Given the description of an element on the screen output the (x, y) to click on. 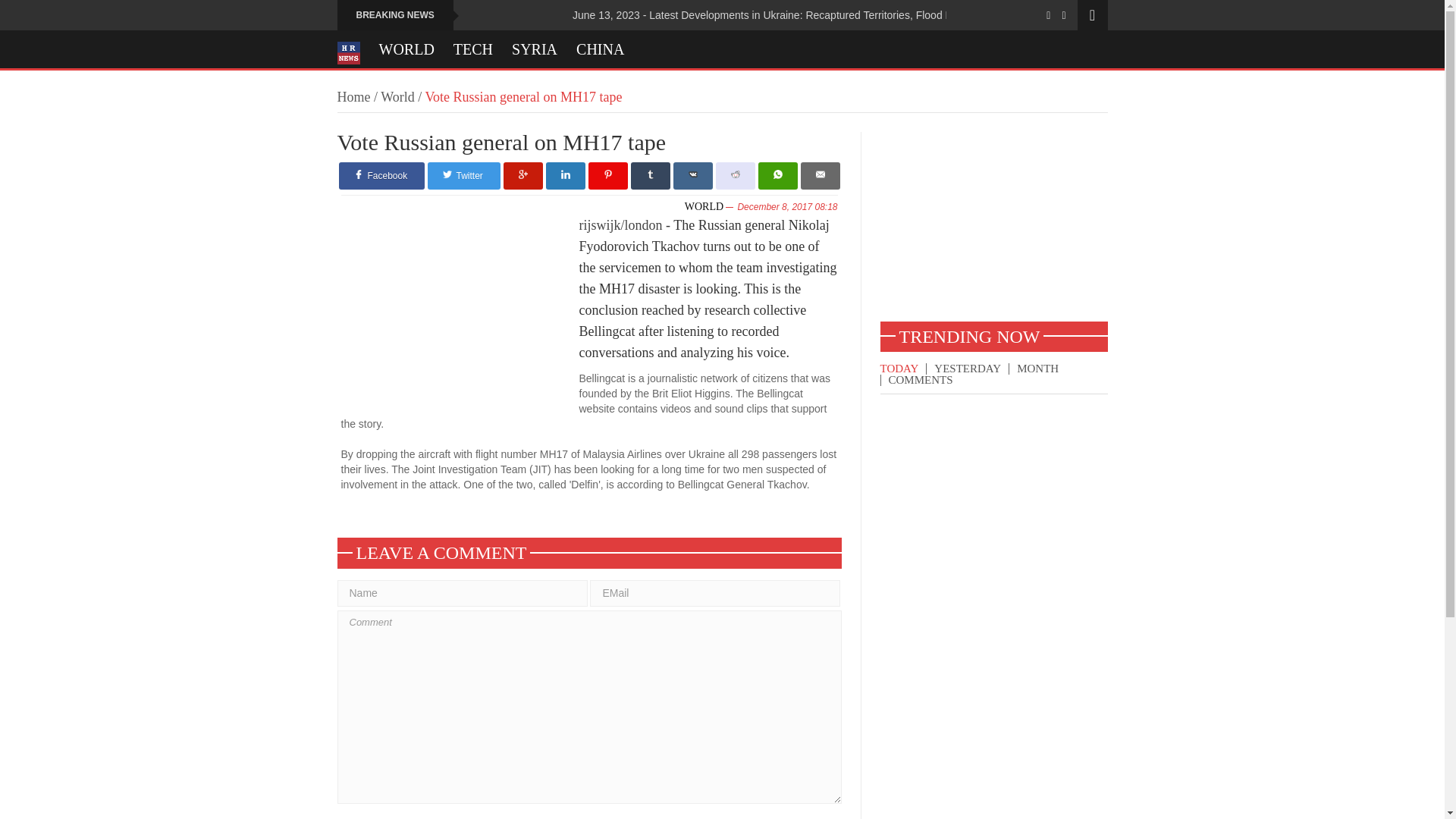
Advertisement (992, 226)
Advertisement (459, 314)
CHINA (600, 48)
WORLD (703, 206)
World (397, 96)
TECH (472, 48)
SYRIA (534, 48)
Home (352, 96)
WORLD (405, 48)
